Given the description of an element on the screen output the (x, y) to click on. 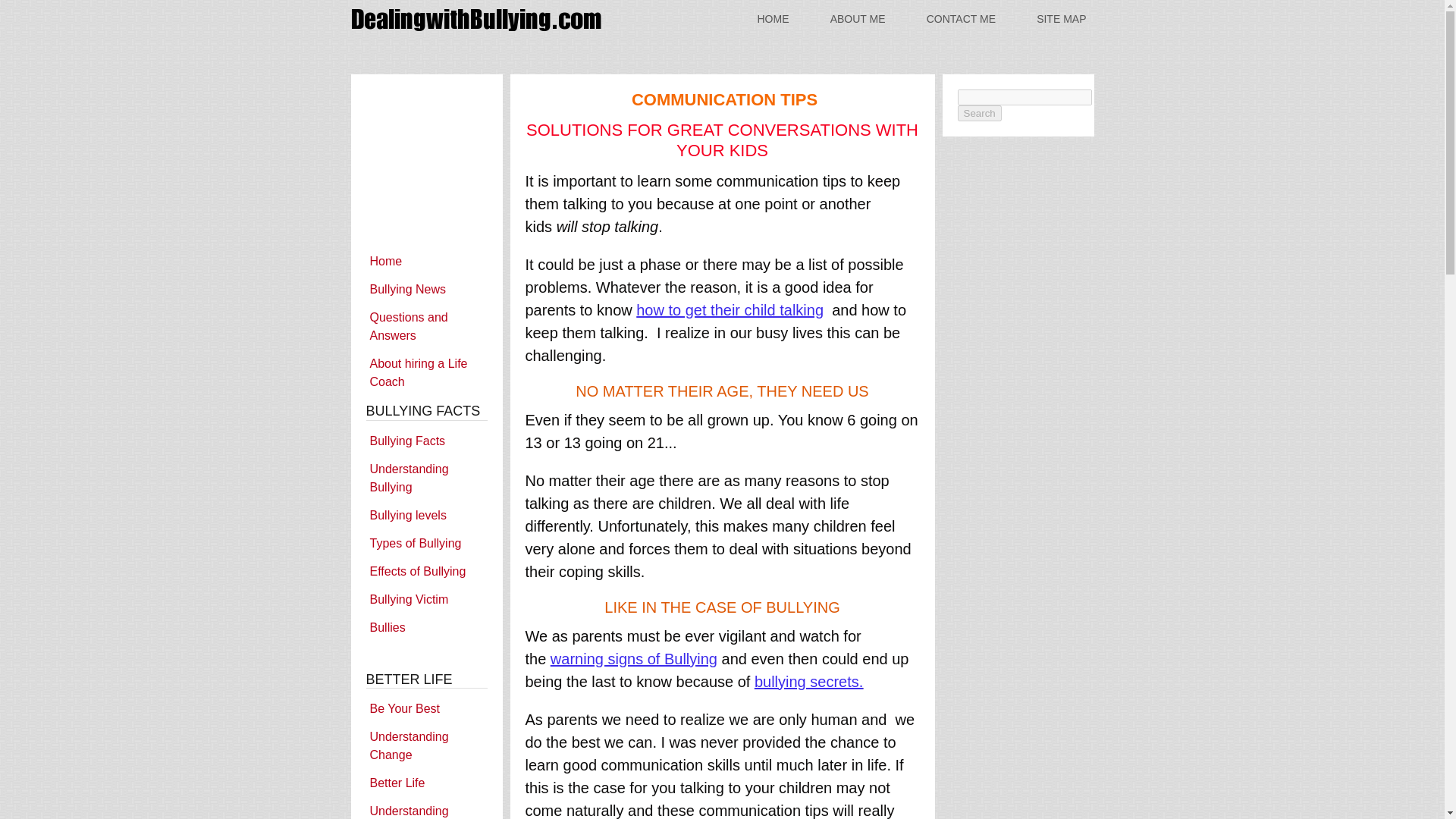
Effects of Bullying (425, 570)
About hiring a Life Coach (425, 372)
Bullies (425, 626)
Be Your Best (425, 708)
Bullying Victim (425, 599)
CONTACT ME (960, 18)
Bullying News (425, 289)
Understanding Change (425, 745)
how to get their child talking (730, 310)
Search (978, 113)
warning signs of Bullying (633, 658)
Understanding Bullying (425, 478)
Home (425, 261)
Types of Bullying (425, 543)
Questions and Answers (425, 326)
